Given the description of an element on the screen output the (x, y) to click on. 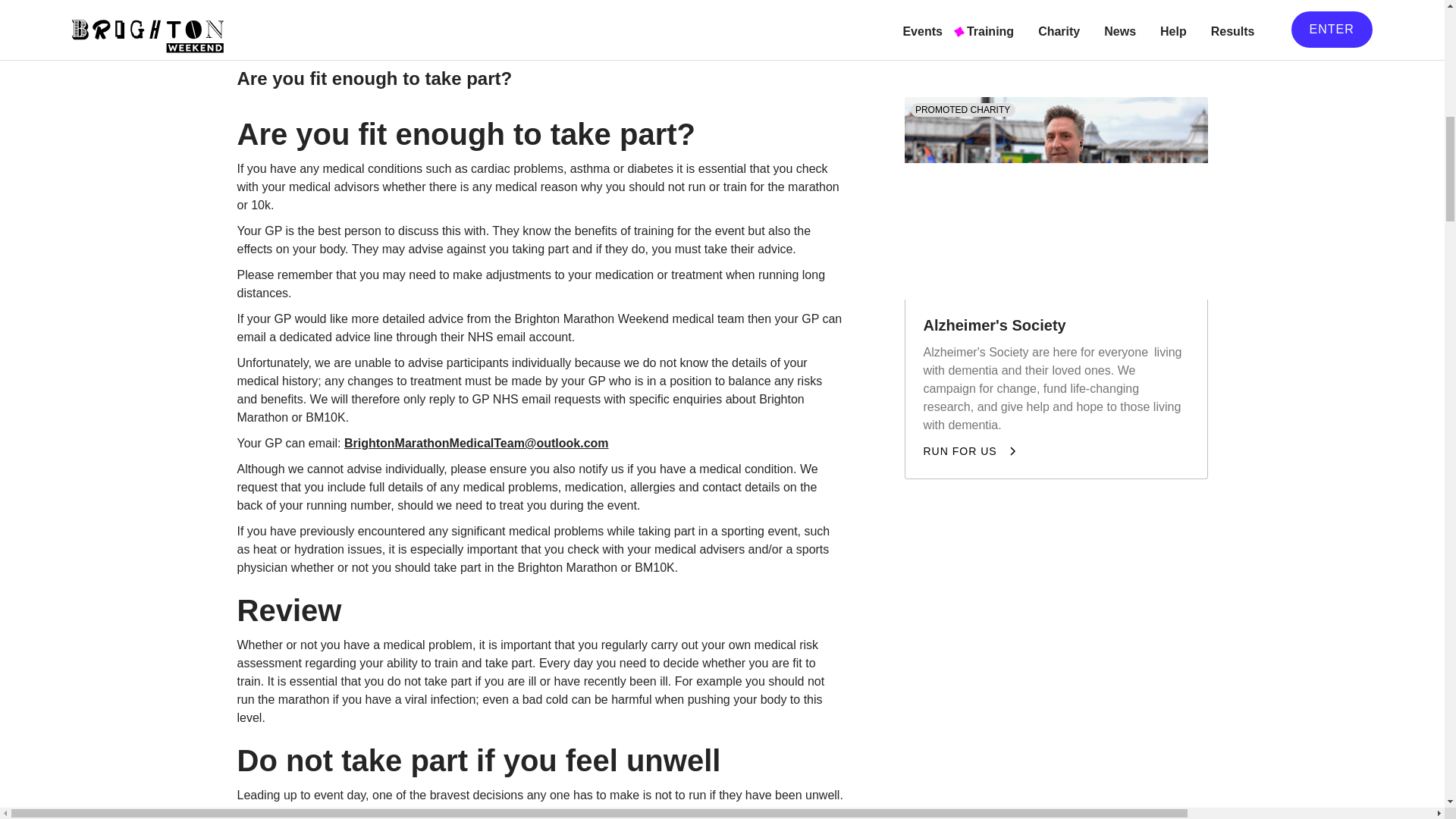
RUN FOR US (970, 420)
